Given the description of an element on the screen output the (x, y) to click on. 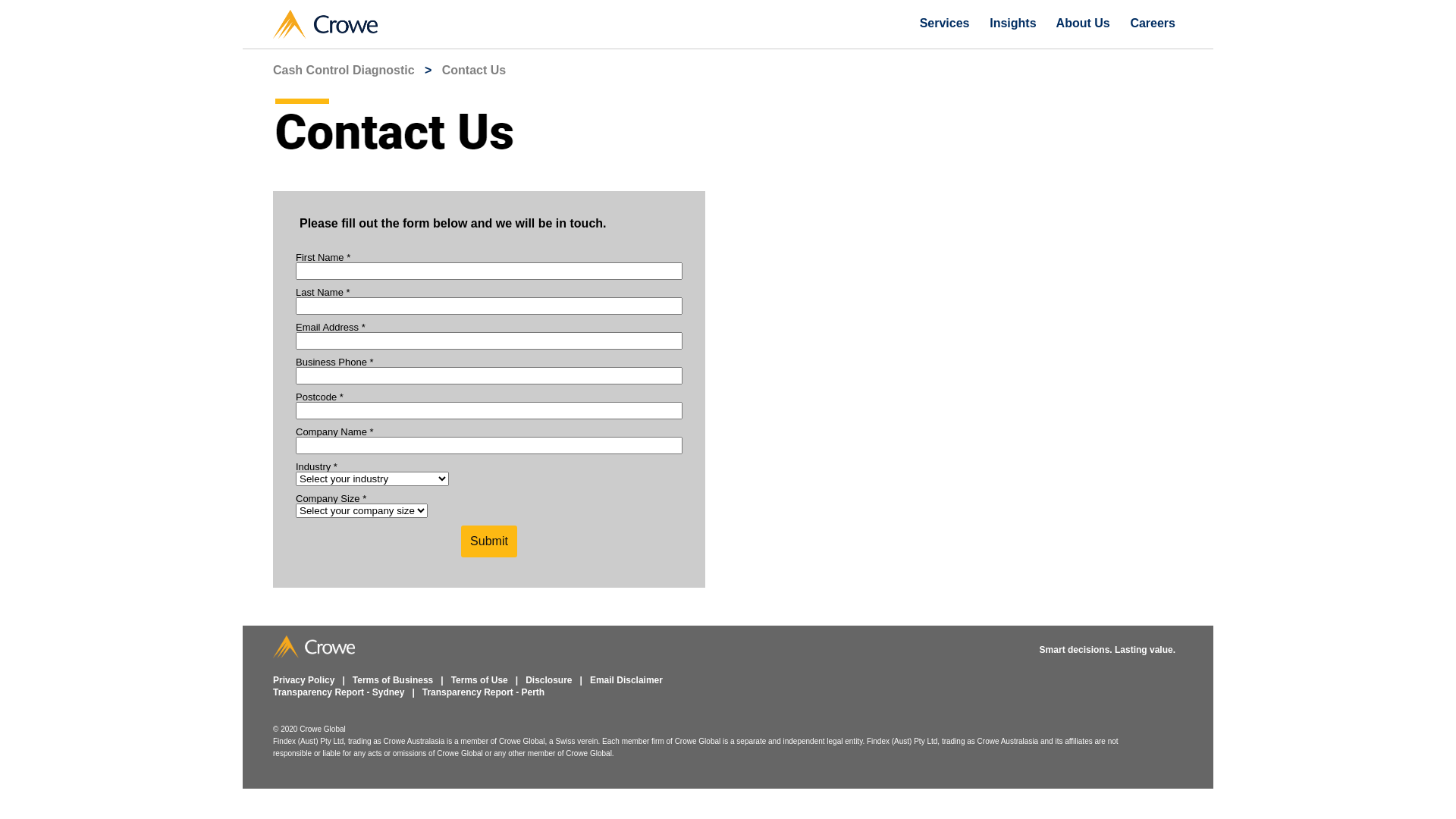
Terms of Use Element type: text (479, 679)
Submit Element type: text (489, 541)
About Us Element type: text (1083, 22)
Transparency Report - Perth Element type: text (483, 692)
Privacy Policy Element type: text (303, 679)
Email Disclaimer Element type: text (625, 679)
Terms of Business Element type: text (392, 679)
Services Element type: text (944, 22)
Transparency Report - Sydney Element type: text (338, 692)
Insights Element type: text (1012, 22)
Careers Element type: text (1152, 22)
Disclosure Element type: text (548, 679)
